Given the description of an element on the screen output the (x, y) to click on. 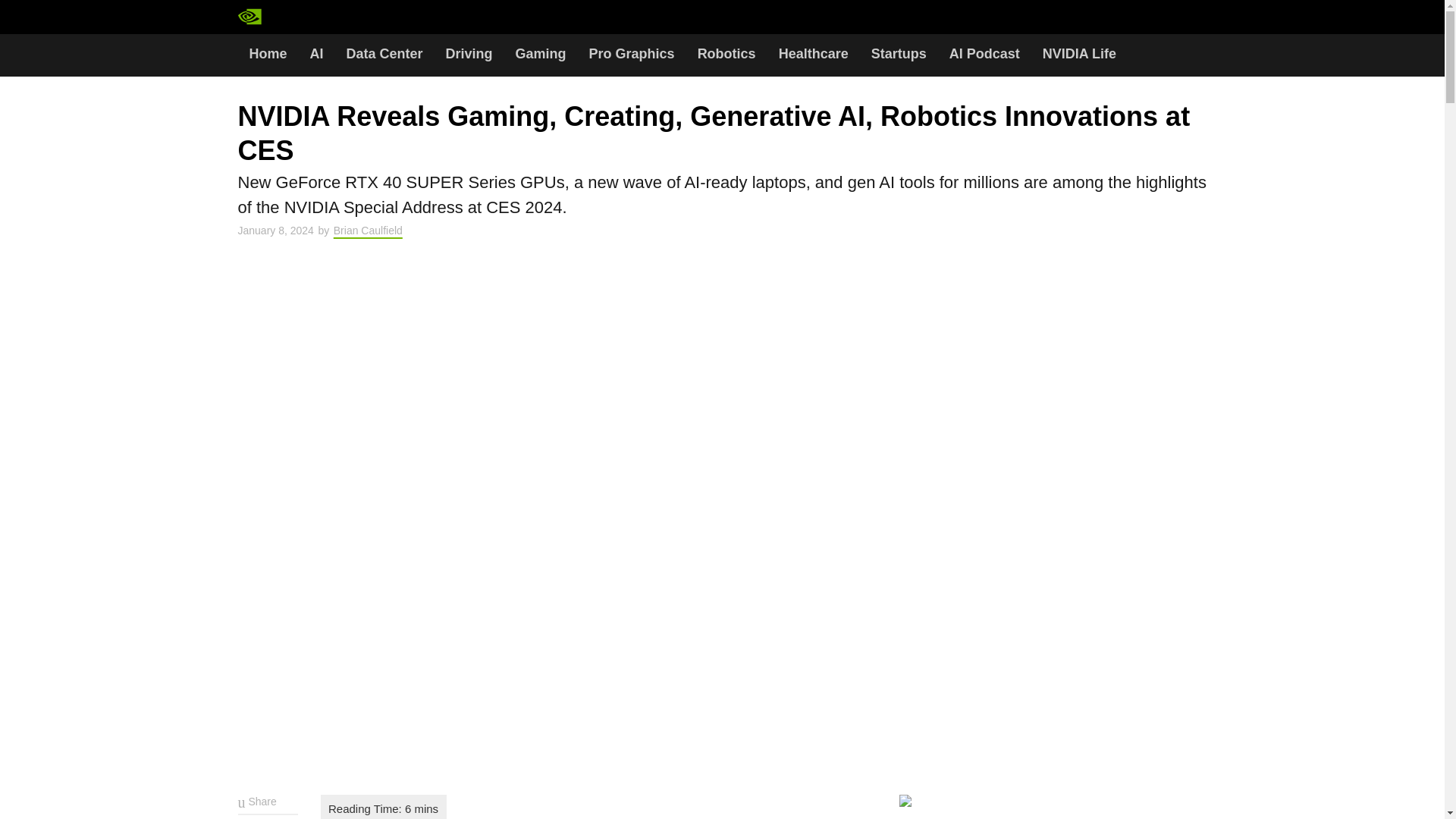
AI Podcast (983, 55)
Artificial Intelligence Computing Leadership from NVIDIA (314, 16)
Data Center (383, 55)
Artificial Intelligence Computing Leadership from NVIDIA (279, 16)
Driving (468, 55)
Pro Graphics (631, 55)
Search (374, 18)
NVIDIA Life (1078, 55)
Home (268, 55)
Brian Caulfield (368, 230)
